Given the description of an element on the screen output the (x, y) to click on. 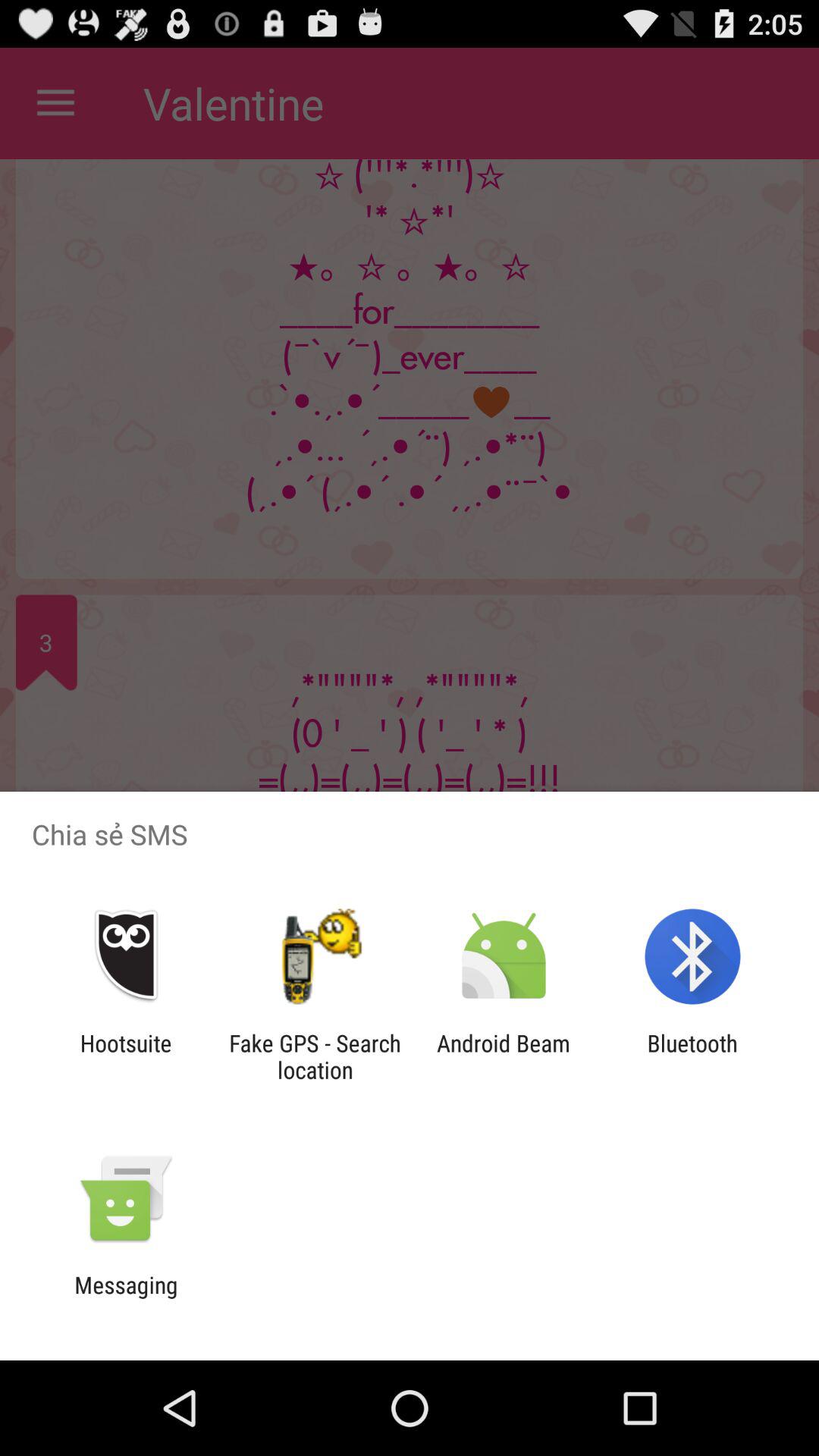
tap app next to fake gps search icon (503, 1056)
